Given the description of an element on the screen output the (x, y) to click on. 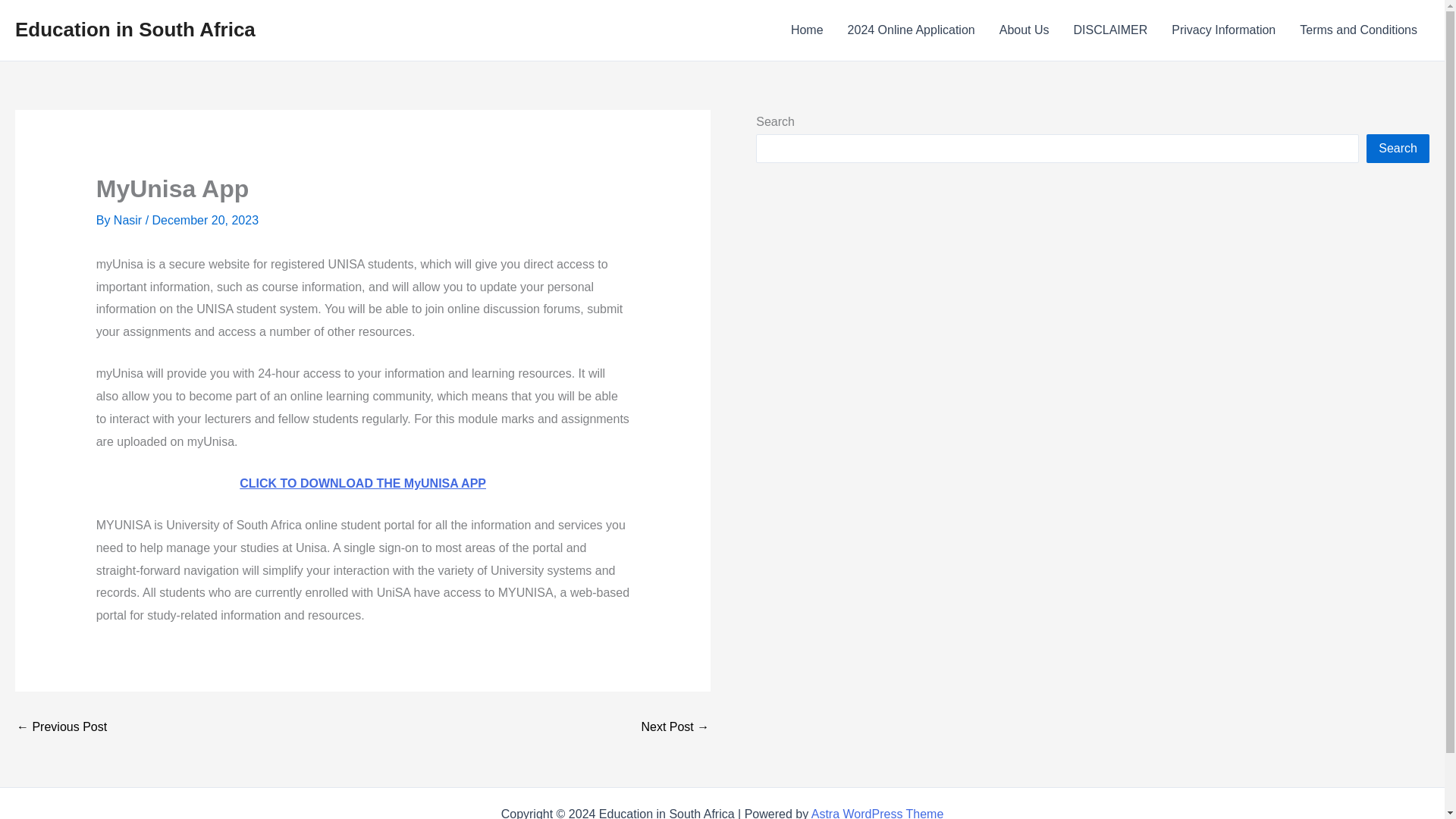
University of KwaZulu-Natal Prospectus 2024 (61, 727)
MyUnisa Updates (674, 727)
Education in South Africa (135, 29)
Home (806, 30)
Privacy Information (1222, 30)
About Us (1024, 30)
Advertisement (869, 424)
2024 Online Application (911, 30)
DISCLAIMER (1110, 30)
View all posts by Nasir (129, 219)
Terms and Conditions (1358, 30)
